Given the description of an element on the screen output the (x, y) to click on. 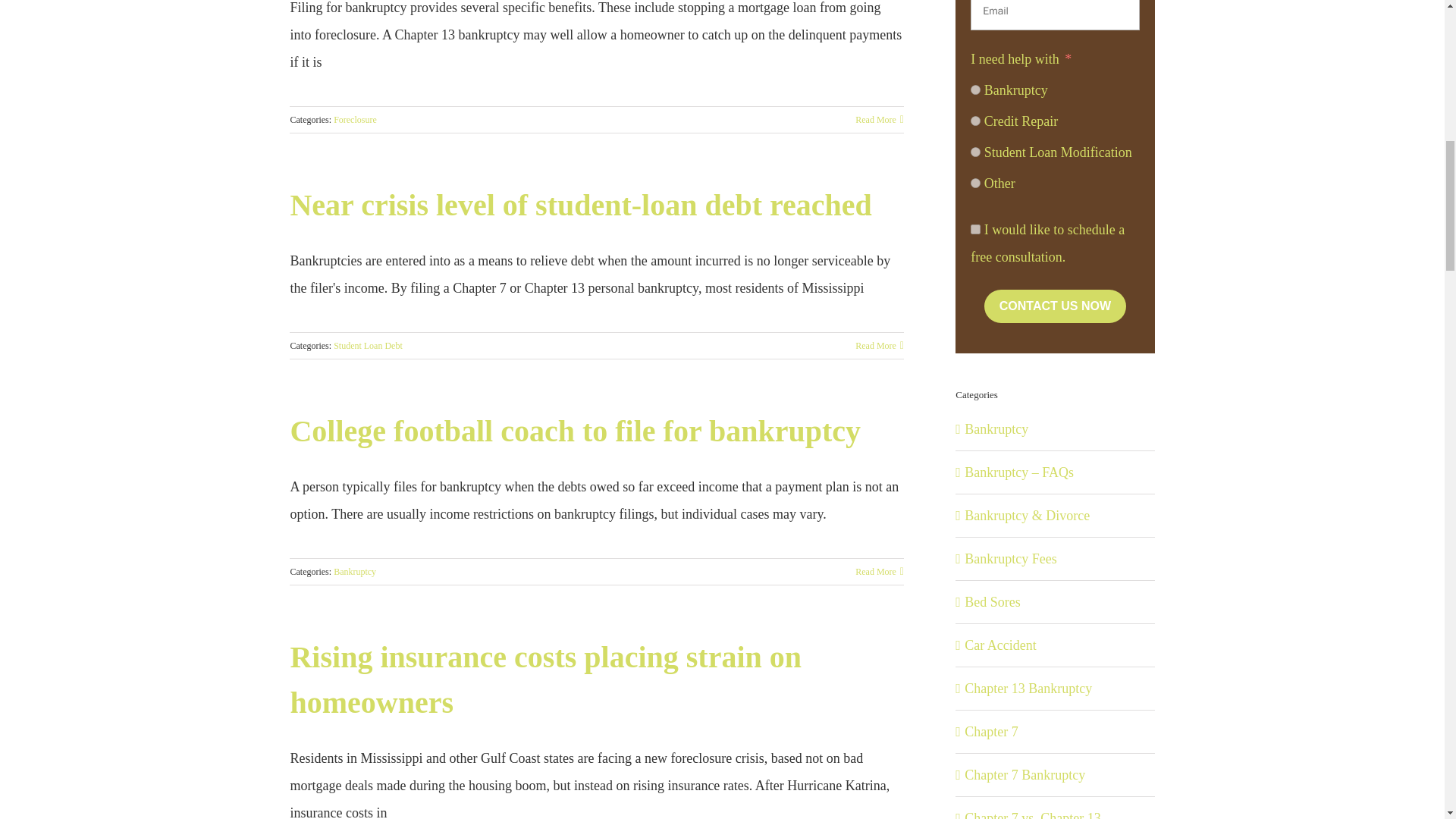
Student Loan Modification (975, 152)
Credit Repair (975, 121)
Other (975, 183)
I would like to schedule a free consultation. (975, 229)
Bankruptcy (975, 90)
